Given the description of an element on the screen output the (x, y) to click on. 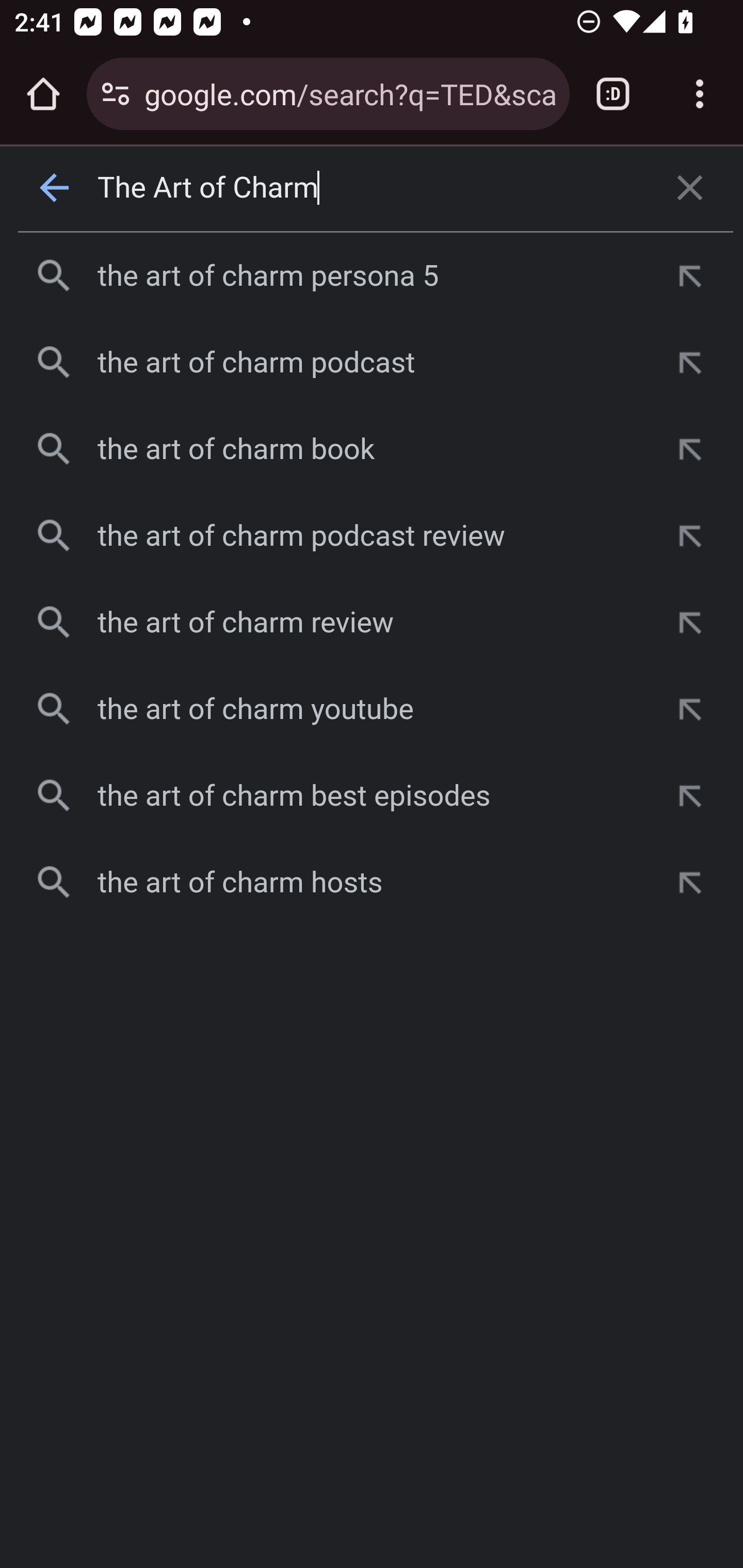
Open the home page (43, 93)
Connection is secure (115, 93)
Switch or close tabs (612, 93)
Customize and control Google Chrome (699, 93)
上一頁 (54, 188)
清除搜尋內容 (690, 188)
The Art of Charm (372, 188)
